Given the description of an element on the screen output the (x, y) to click on. 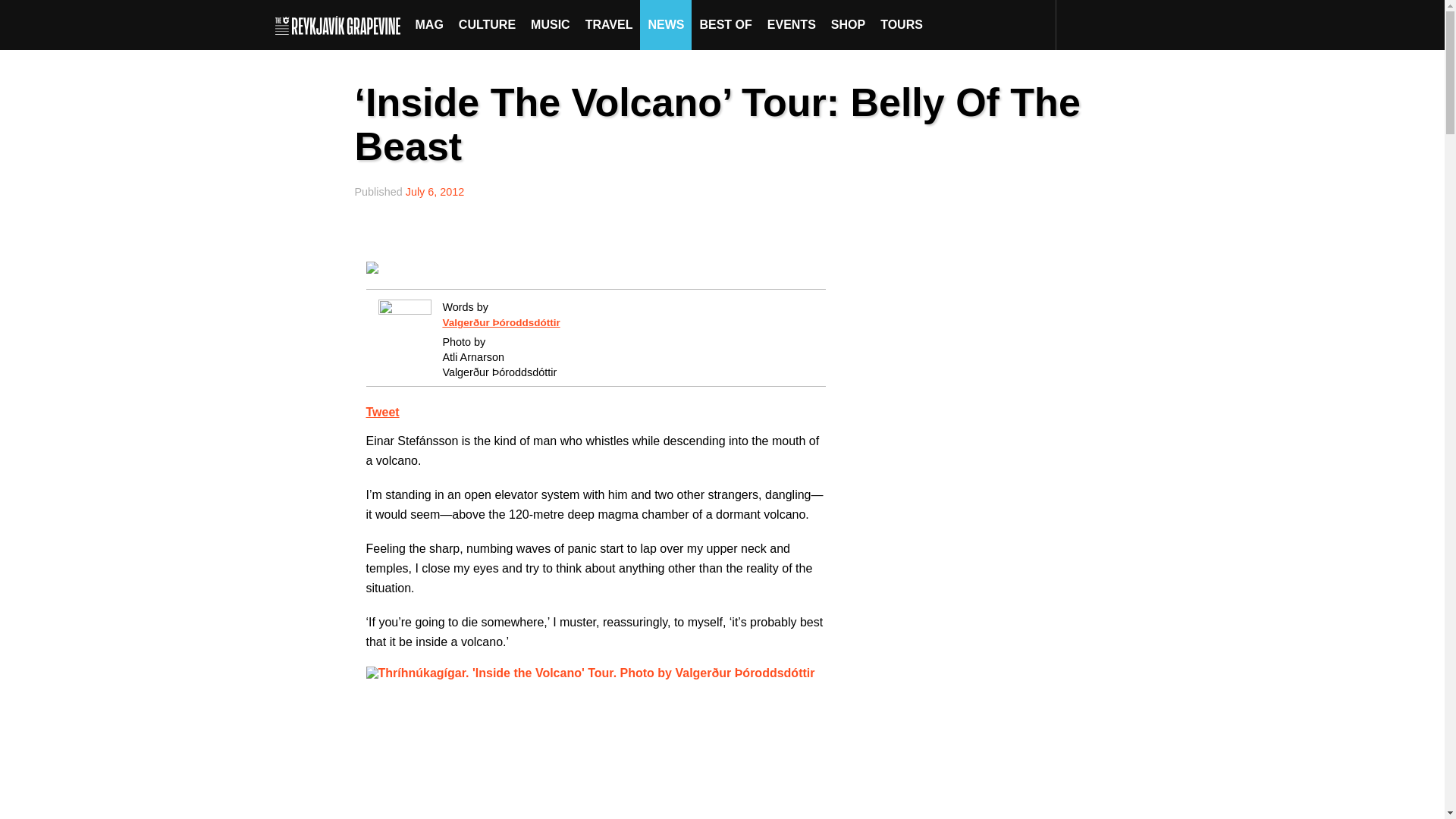
SHOP (848, 24)
The Reykjavik Grapevine (341, 24)
NEWS (665, 24)
MUSIC (550, 24)
Tweet (381, 411)
BEST OF (724, 24)
TRAVEL (609, 24)
CULTURE (486, 24)
EVENTS (792, 24)
TOURS (901, 24)
